Given the description of an element on the screen output the (x, y) to click on. 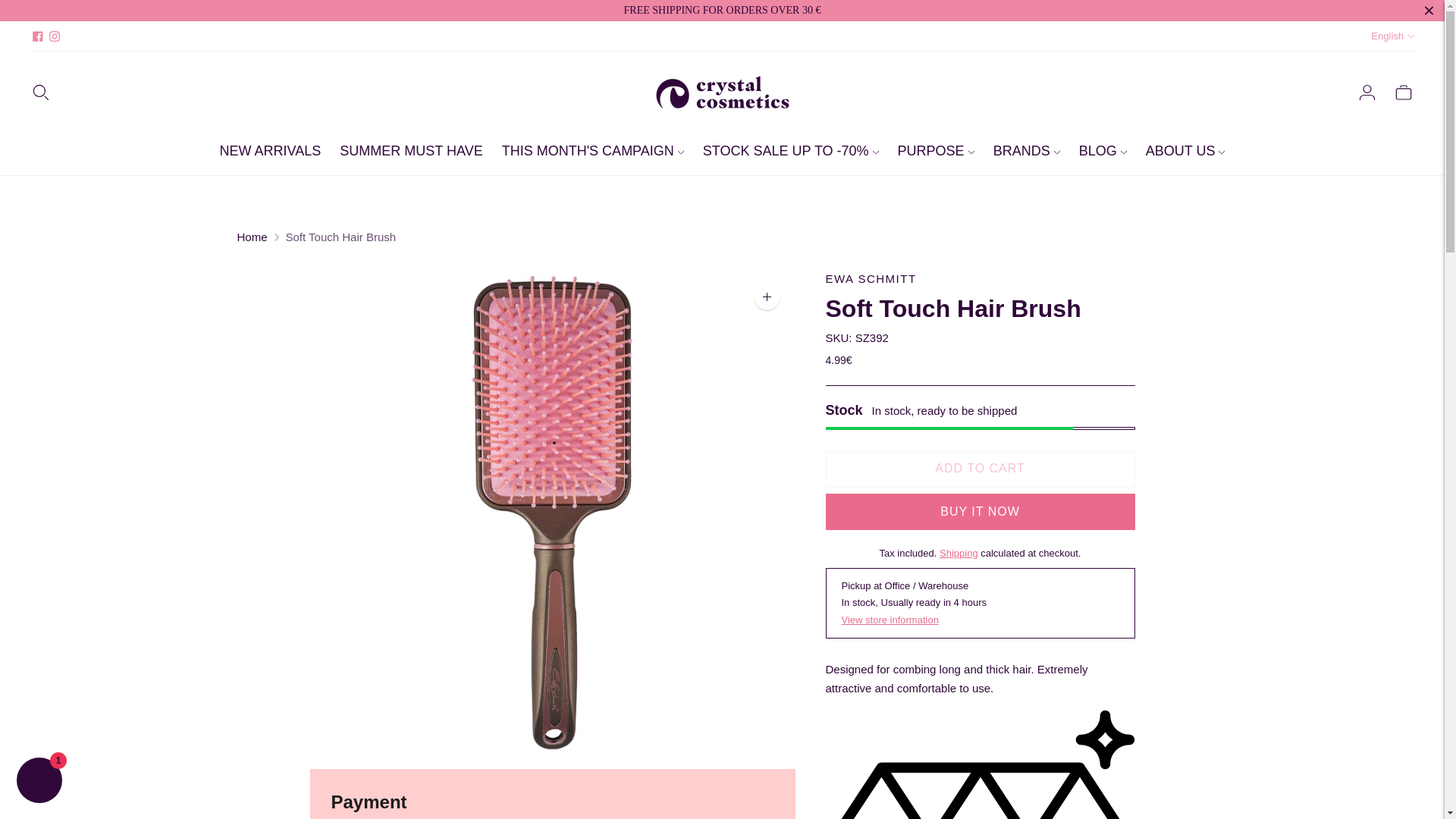
Crystal Cosmetics e-Store on Facebook (37, 36)
Shopify online store chat (38, 781)
Ewa Schmitt (870, 278)
English (1392, 35)
Crystal Cosmetics e-Store on Instagram (54, 36)
